Given the description of an element on the screen output the (x, y) to click on. 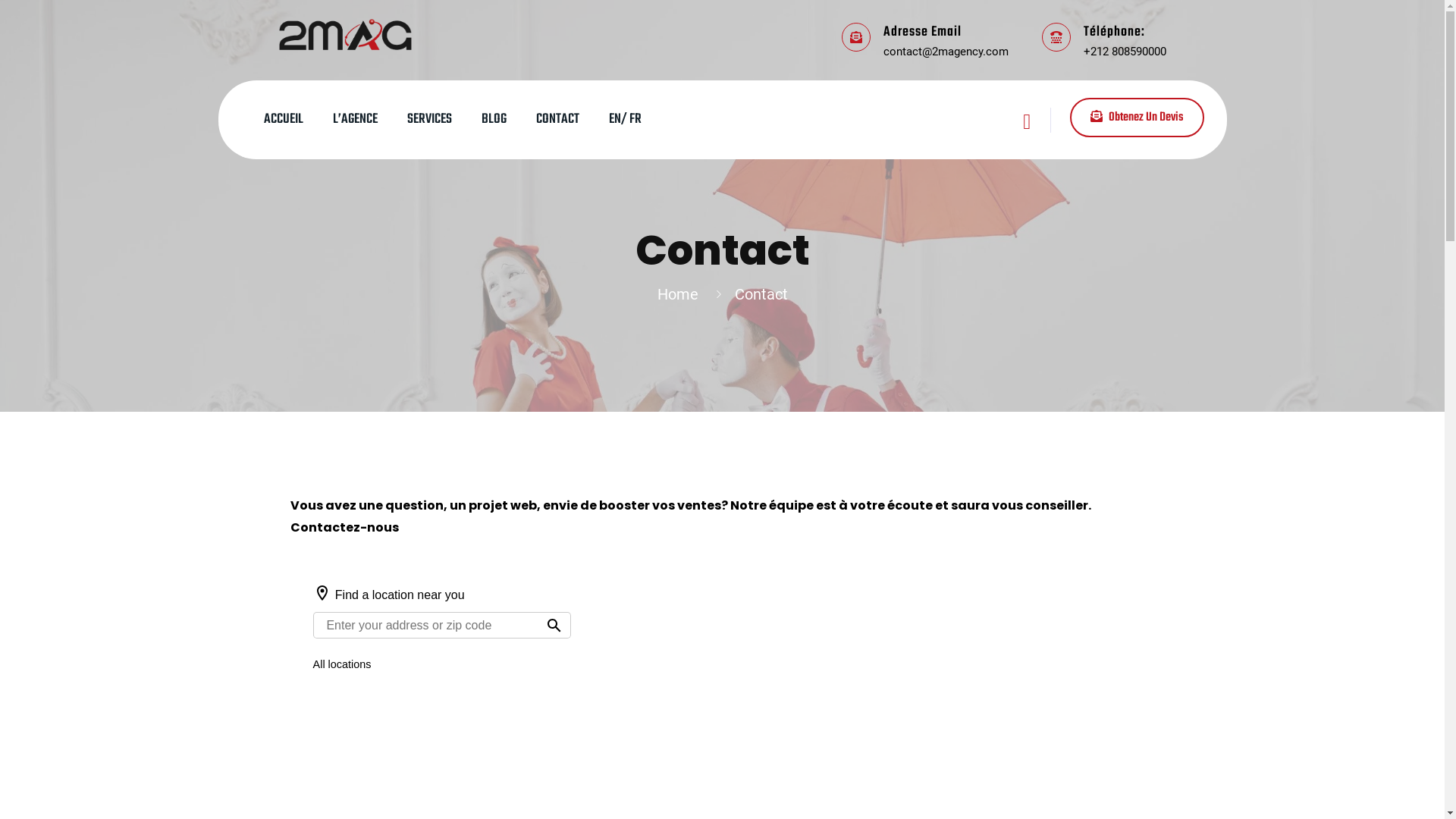
ACCUEIL Element type: text (283, 119)
EN/ FR Element type: text (624, 119)
+212 808590000 Element type: text (1123, 50)
Obtenez Un Devis Element type: text (1136, 116)
Home   Element type: text (680, 294)
contact@2magency.com Element type: text (944, 50)
CONTACT Element type: text (556, 119)
BLOG Element type: text (492, 119)
SERVICES Element type: text (428, 119)
2MAG Agence Digitale Element type: hover (345, 33)
